Given the description of an element on the screen output the (x, y) to click on. 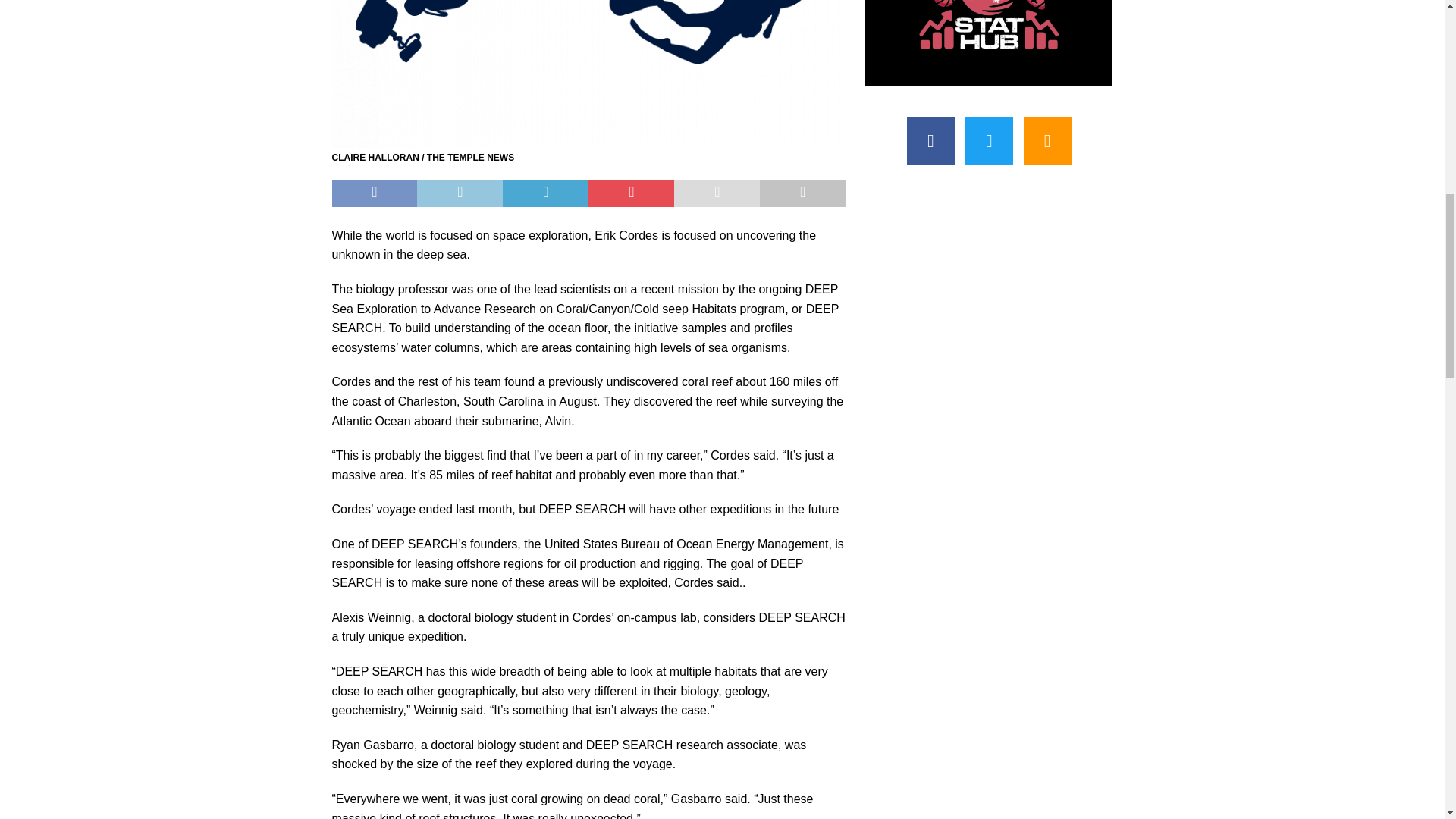
Artboard 1 (588, 74)
